Given the description of an element on the screen output the (x, y) to click on. 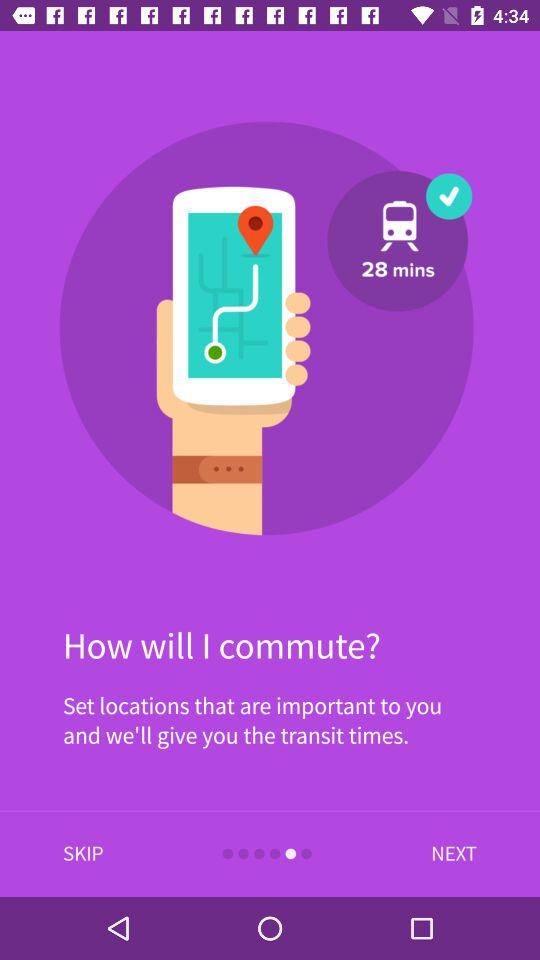
tap the next item (449, 853)
